Given the description of an element on the screen output the (x, y) to click on. 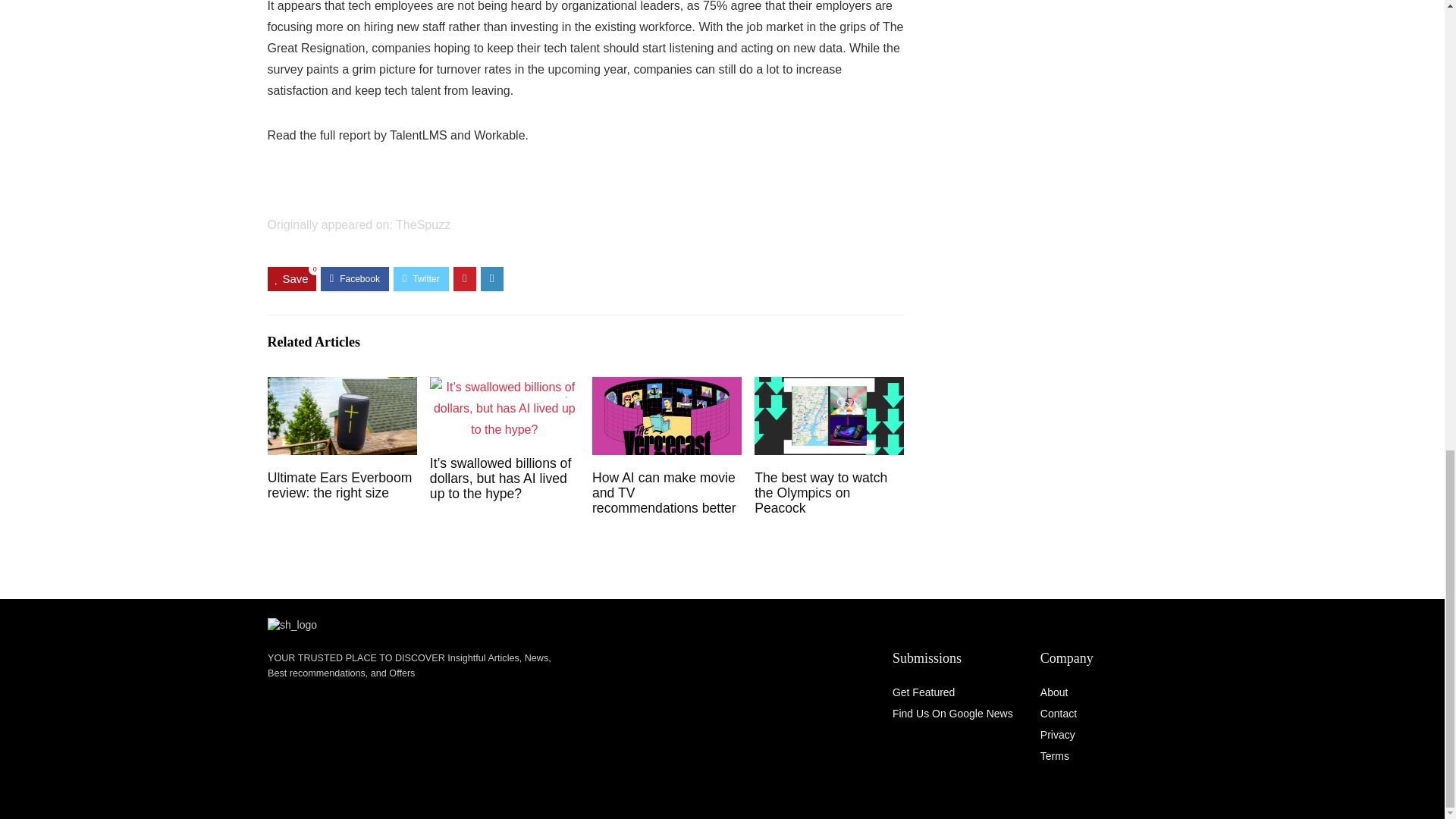
TheSpuzz (422, 224)
Terms (1054, 756)
Find Us On Google News (952, 713)
Get Featured (923, 692)
Privacy (1058, 734)
How AI can make movie and TV recommendations better (664, 492)
About (1054, 692)
Contact (1059, 713)
Ultimate Ears Everboom review: the right size (339, 485)
The best way to watch the Olympics on Peacock (820, 492)
